Given the description of an element on the screen output the (x, y) to click on. 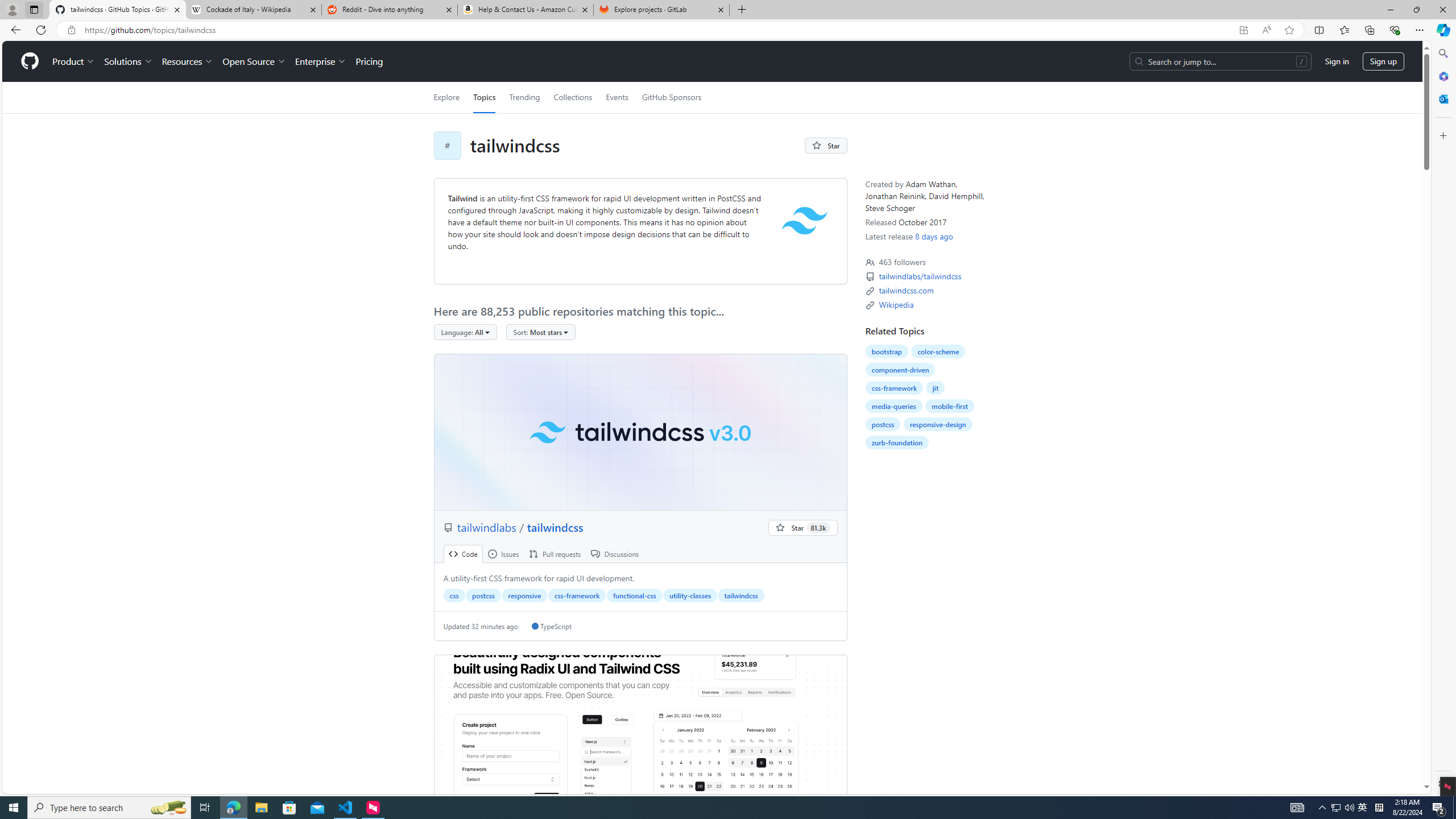
color-scheme (938, 351)
Product (74, 60)
utility-classes (689, 594)
tailwind logo (804, 220)
tailwindcss.com (906, 290)
 Pull requests (555, 553)
Sort: Most stars (540, 331)
App available. Install GitHub (1243, 29)
GitHub Sponsors (671, 97)
 Pull requests (555, 553)
Sign up (1382, 61)
responsive (524, 594)
Product (74, 60)
